Given the description of an element on the screen output the (x, y) to click on. 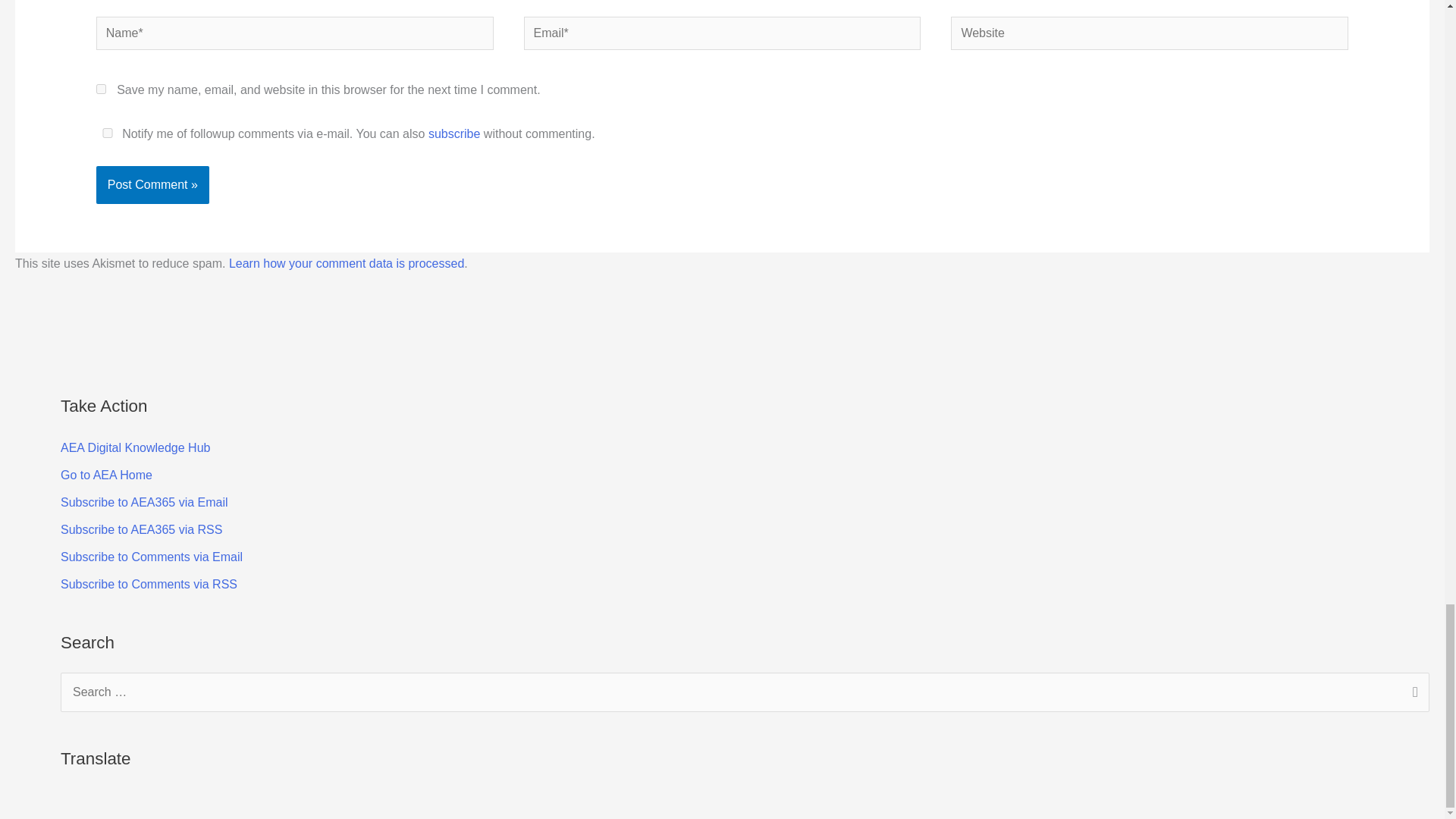
Subscribe to AEA365 via Email (144, 502)
American Evaluation Association Homepage (106, 474)
Subscribe to aea365 via RSS feed (141, 529)
Receive aea365 daily via email subscription (144, 502)
yes (101, 89)
AEA Digital Knowledge Hub (135, 447)
Subscribe to Comments via RSS (149, 584)
Go to AEA Home (106, 474)
Learn how your comment data is processed (346, 263)
yes (107, 132)
subscribe (454, 133)
Subscribe to AEA365 via RSS (141, 529)
Subscribe to Comments via Email (152, 556)
